Given the description of an element on the screen output the (x, y) to click on. 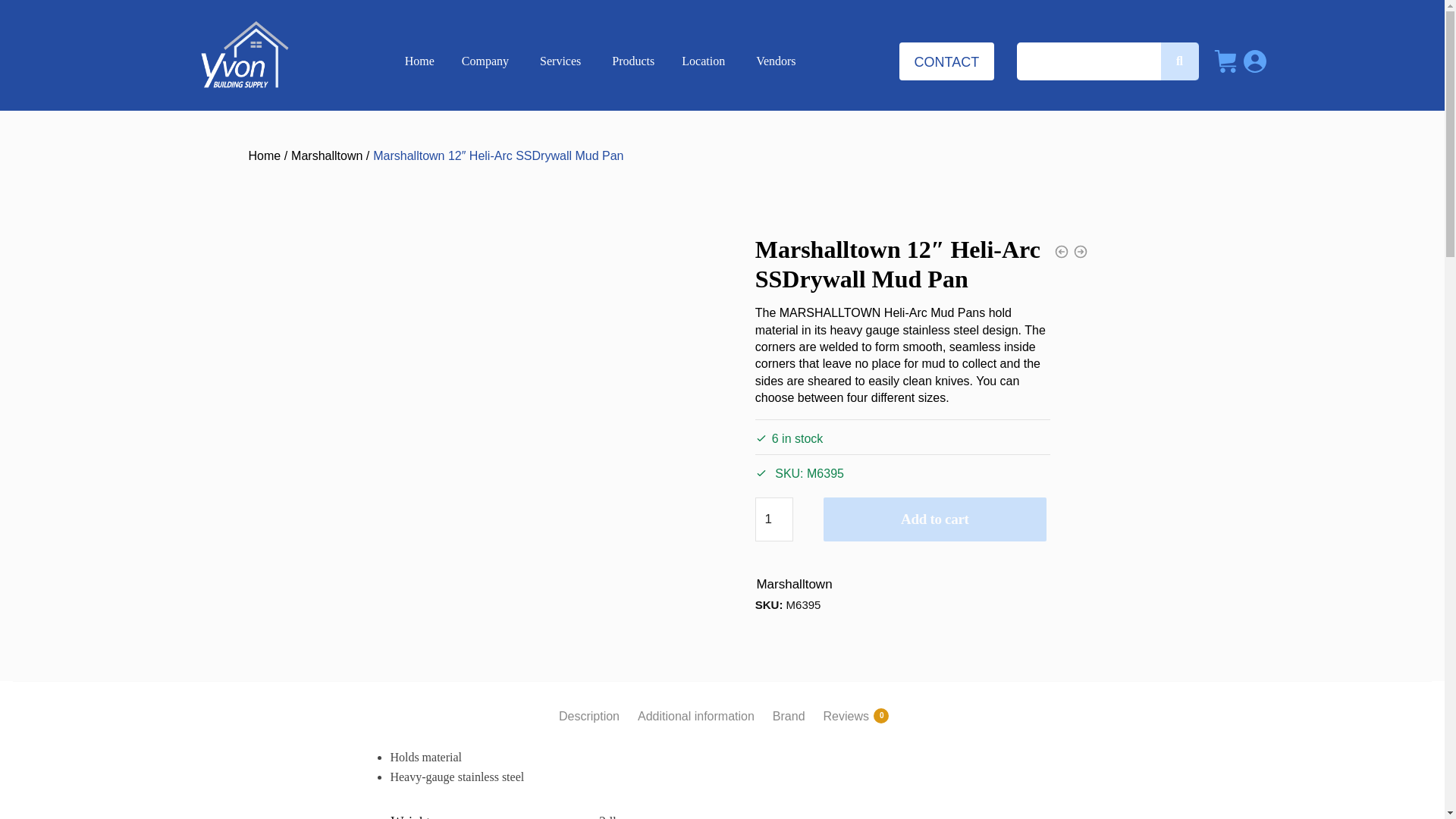
Products (633, 60)
Home (264, 156)
View brand (793, 584)
Home (419, 60)
Marshalltown (330, 156)
Services (561, 60)
Company (486, 60)
Search (1107, 61)
